Given the description of an element on the screen output the (x, y) to click on. 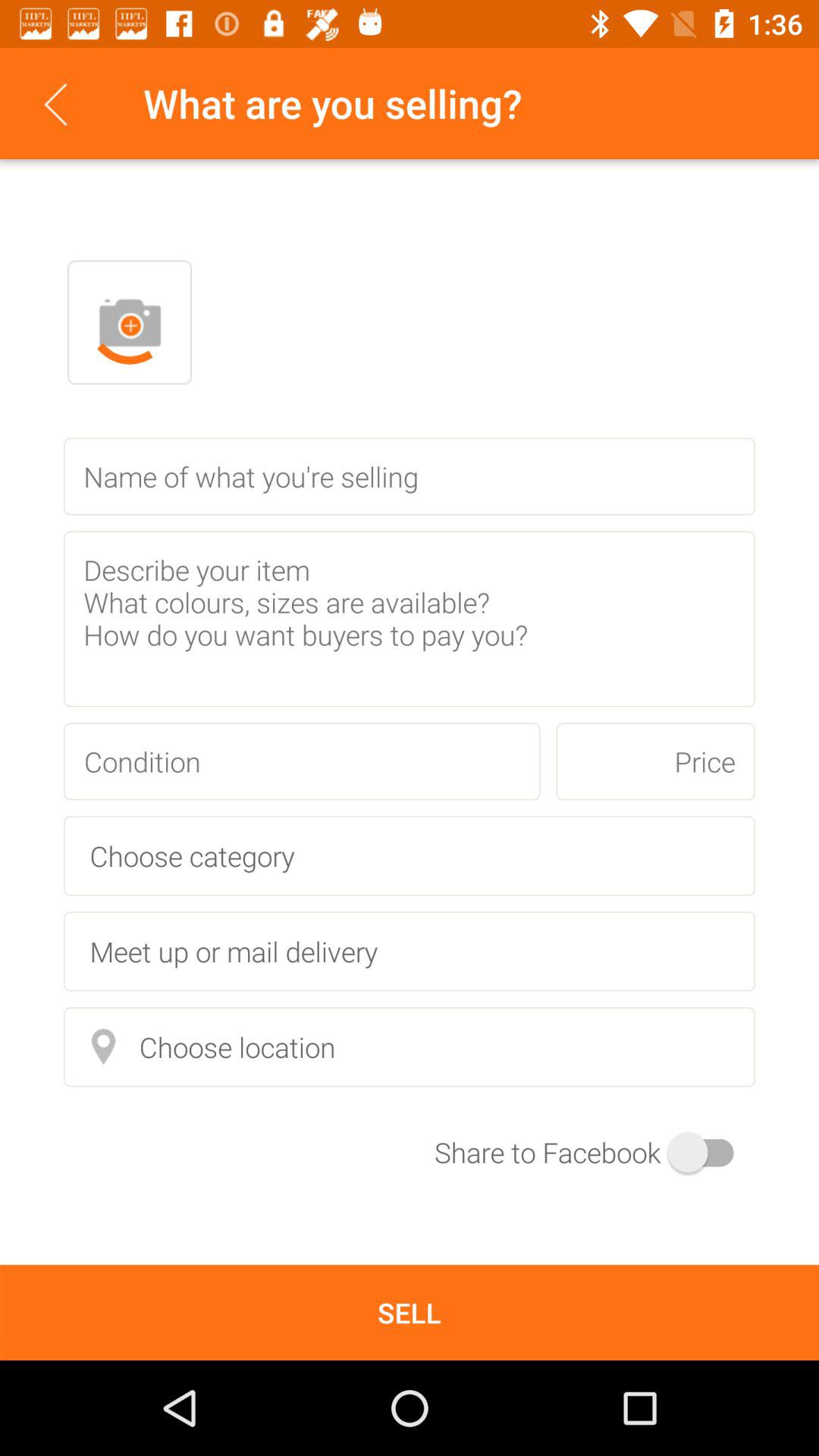
flip to sell item (409, 1312)
